Given the description of an element on the screen output the (x, y) to click on. 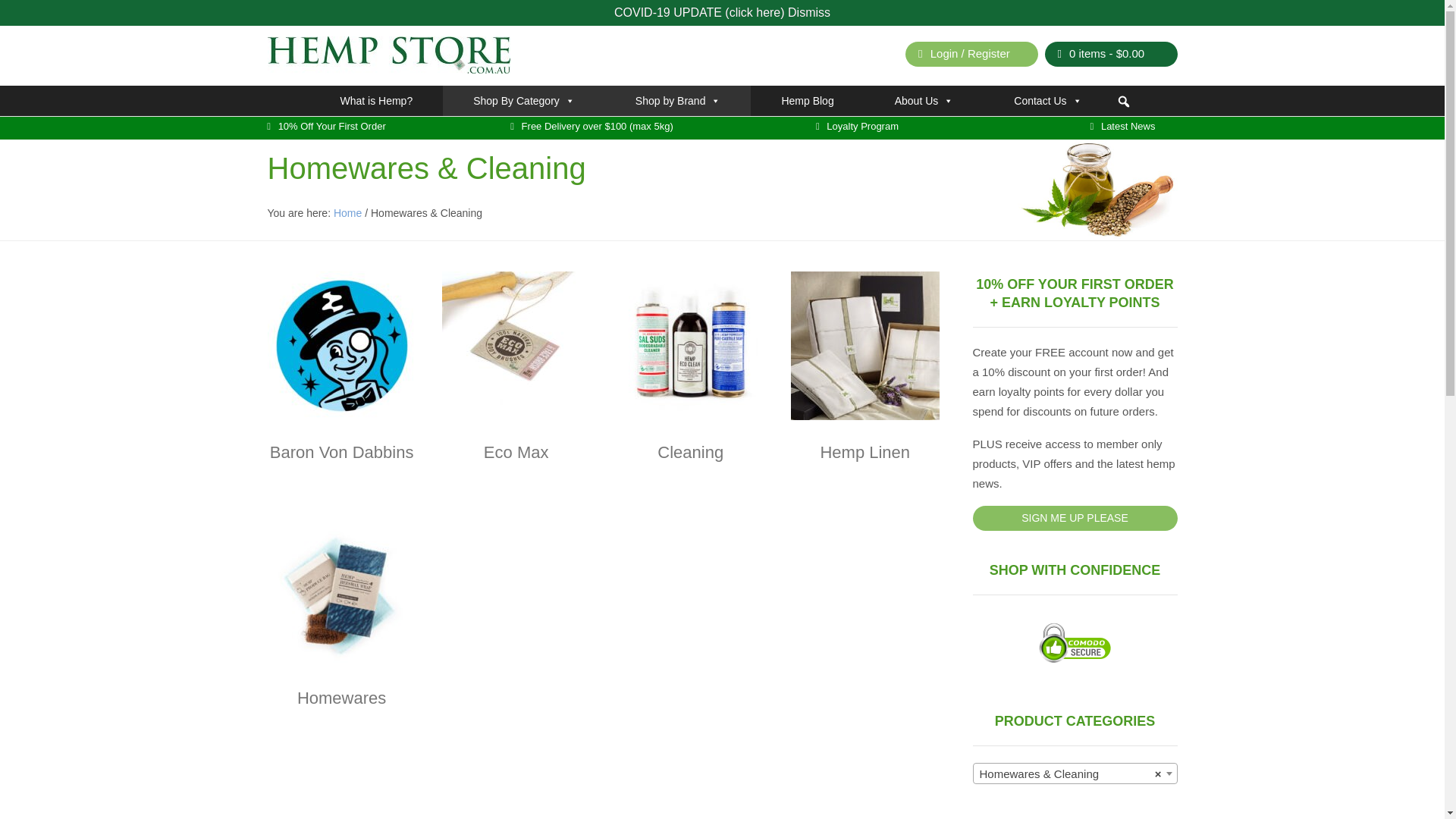
What is Hemp? (375, 100)
Comodo Positive SSL (1074, 642)
View your shopping cart (1111, 53)
Shop By Category (523, 100)
